Given the description of an element on the screen output the (x, y) to click on. 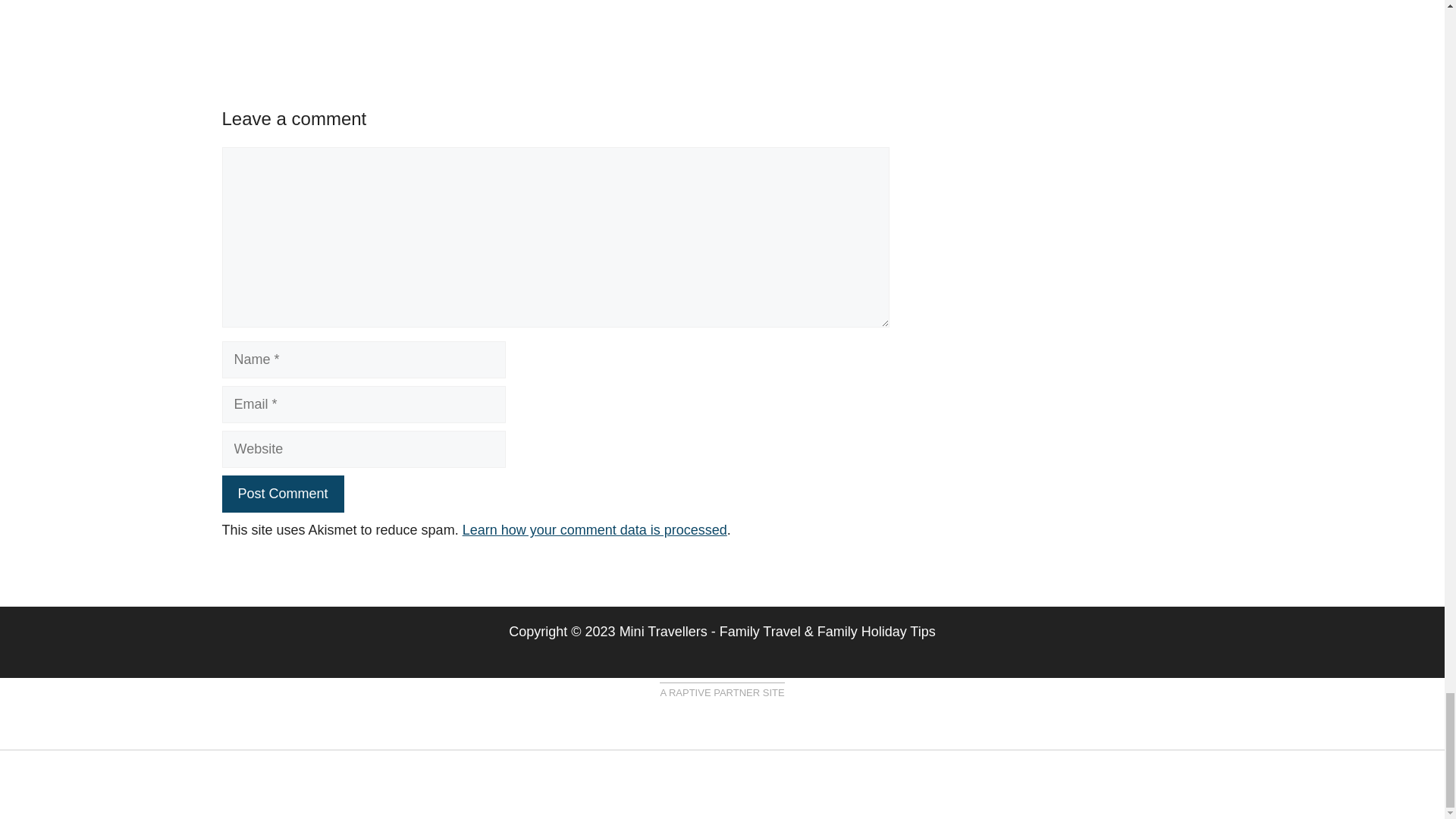
Post Comment (282, 493)
